Given the description of an element on the screen output the (x, y) to click on. 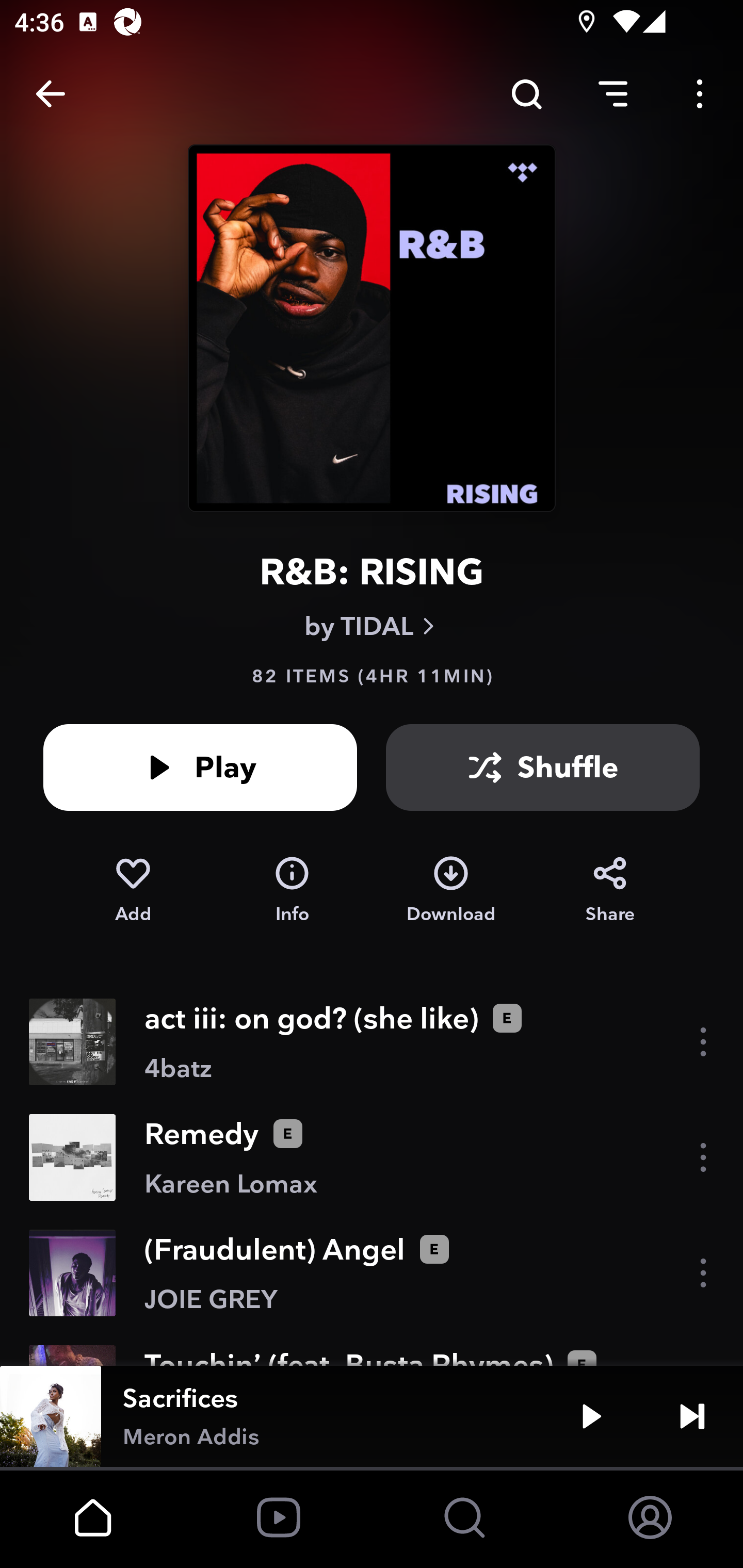
Back (50, 93)
Search (525, 93)
Sorting (612, 93)
Options (699, 93)
by TIDAL (371, 625)
Play (200, 767)
Shuffle (542, 767)
Add (132, 890)
Info (291, 890)
Download (450, 890)
Share (609, 890)
act iii: on god? (she like) 4batz (371, 1041)
Remedy Kareen Lomax (371, 1157)
(Fraudulent) Angel JOIE GREY (371, 1273)
Sacrifices Meron Addis Play (371, 1416)
Play (590, 1416)
